Given the description of an element on the screen output the (x, y) to click on. 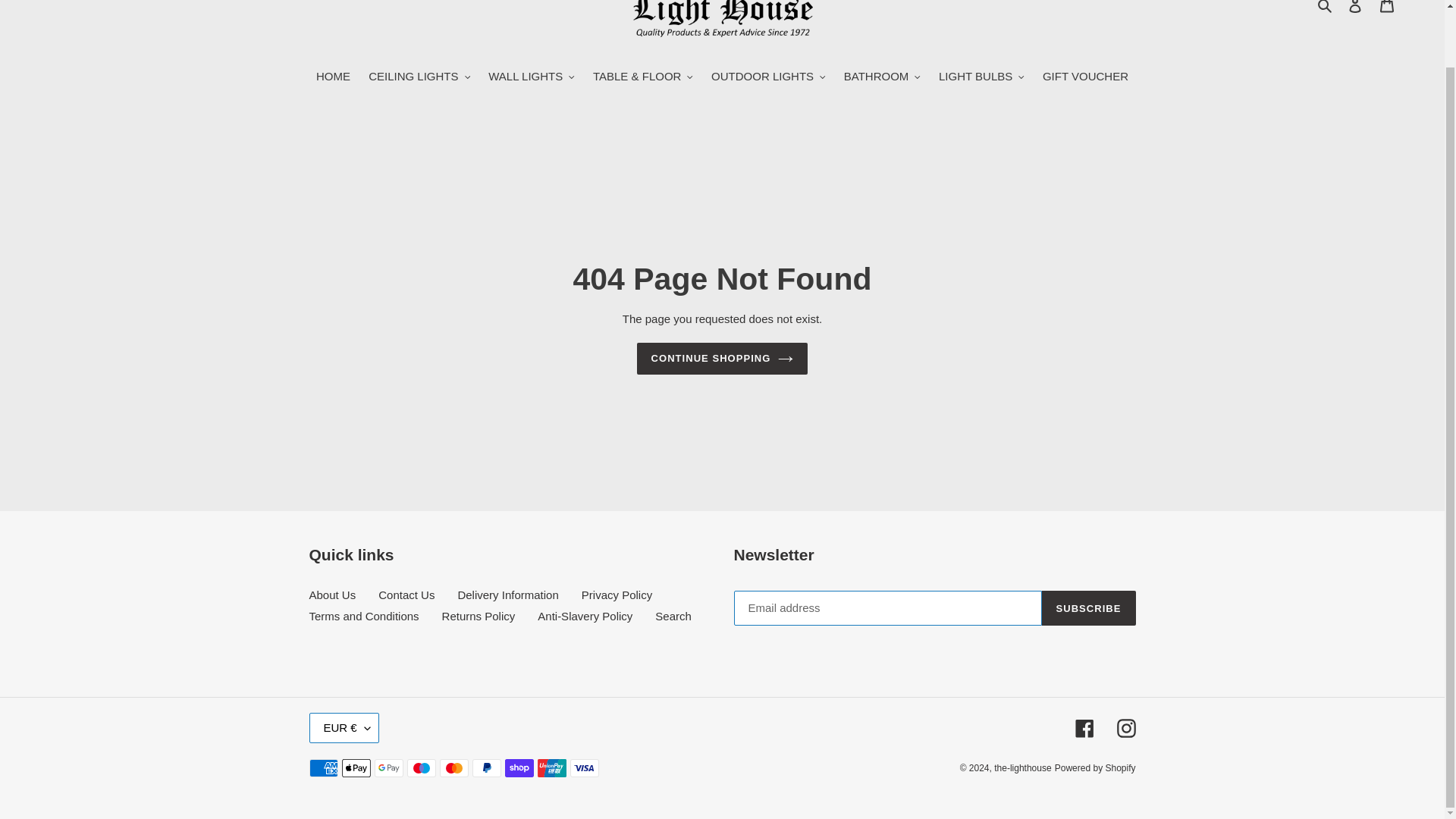
Cart (1387, 10)
Log in (1355, 10)
Search (1326, 7)
